Given the description of an element on the screen output the (x, y) to click on. 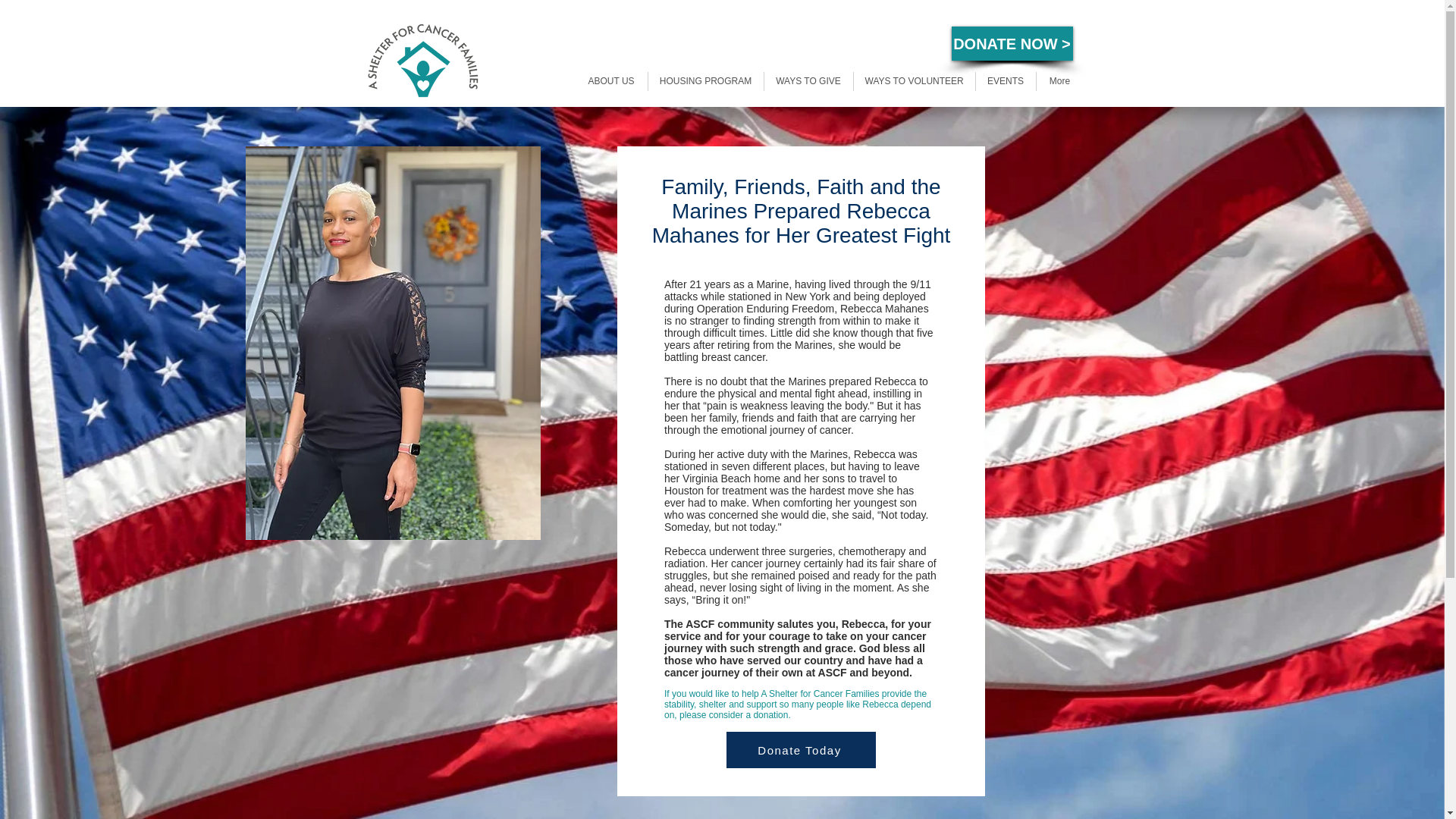
ASCF-2color.png (422, 60)
WAYS TO GIVE (808, 81)
EVENTS (1005, 81)
WAYS TO VOLUNTEER (914, 81)
ABOUT US (610, 81)
Donate Today (801, 750)
